Given the description of an element on the screen output the (x, y) to click on. 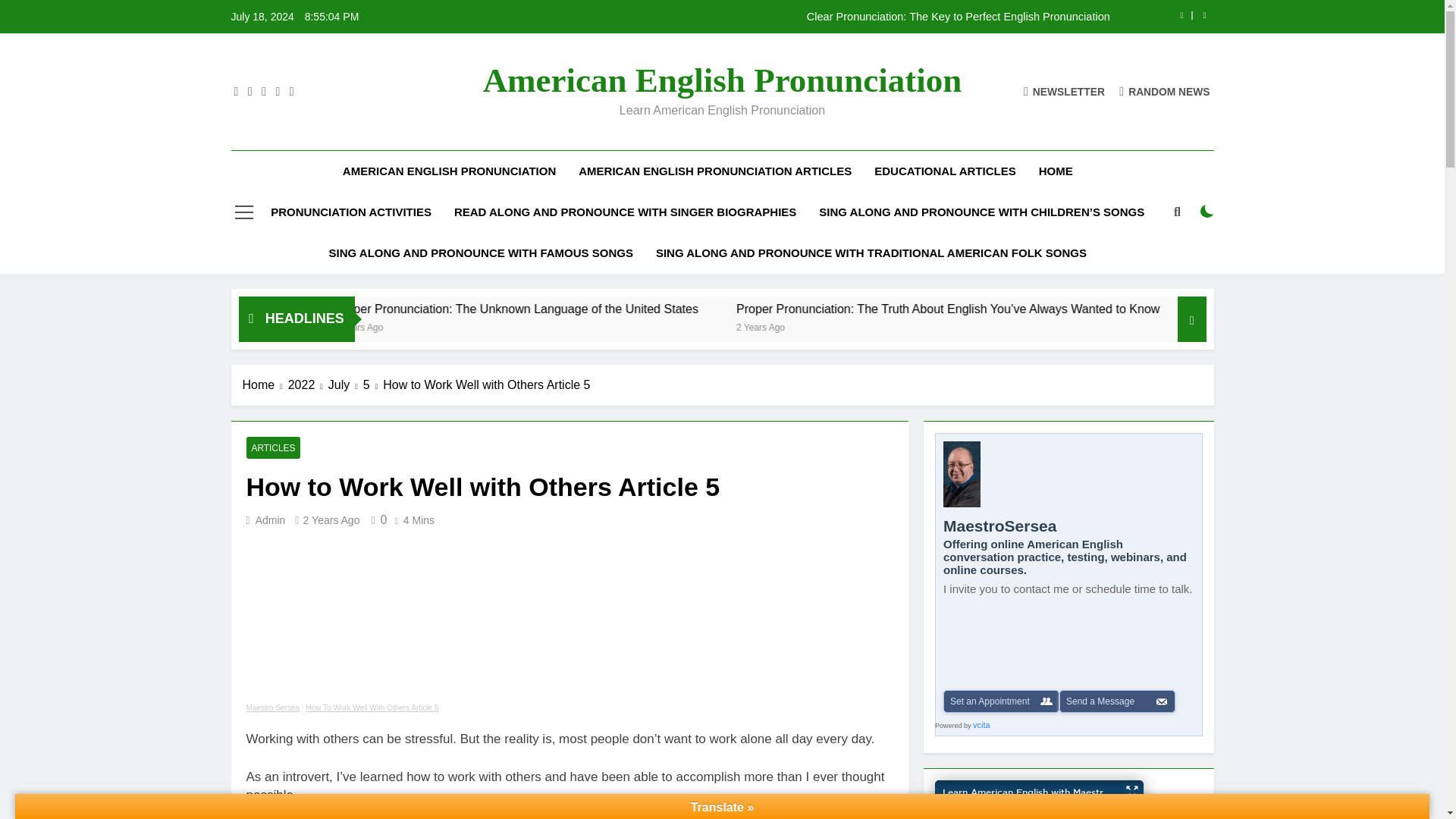
AMERICAN ENGLISH PRONUNCIATION (449, 170)
NEWSLETTER (1064, 91)
SING ALONG AND PRONOUNCE WITH FAMOUS SONGS (481, 252)
PRONUNCIATION ACTIVITIES (350, 211)
American English Pronunciation (722, 80)
2 Years Ago (935, 326)
2 Years Ago (537, 326)
AMERICAN ENGLISH PRONUNCIATION ARTICLES (715, 170)
on (1206, 211)
READ ALONG AND PRONOUNCE WITH SINGER BIOGRAPHIES (625, 211)
American English Pronunciation (394, 309)
